Given the description of an element on the screen output the (x, y) to click on. 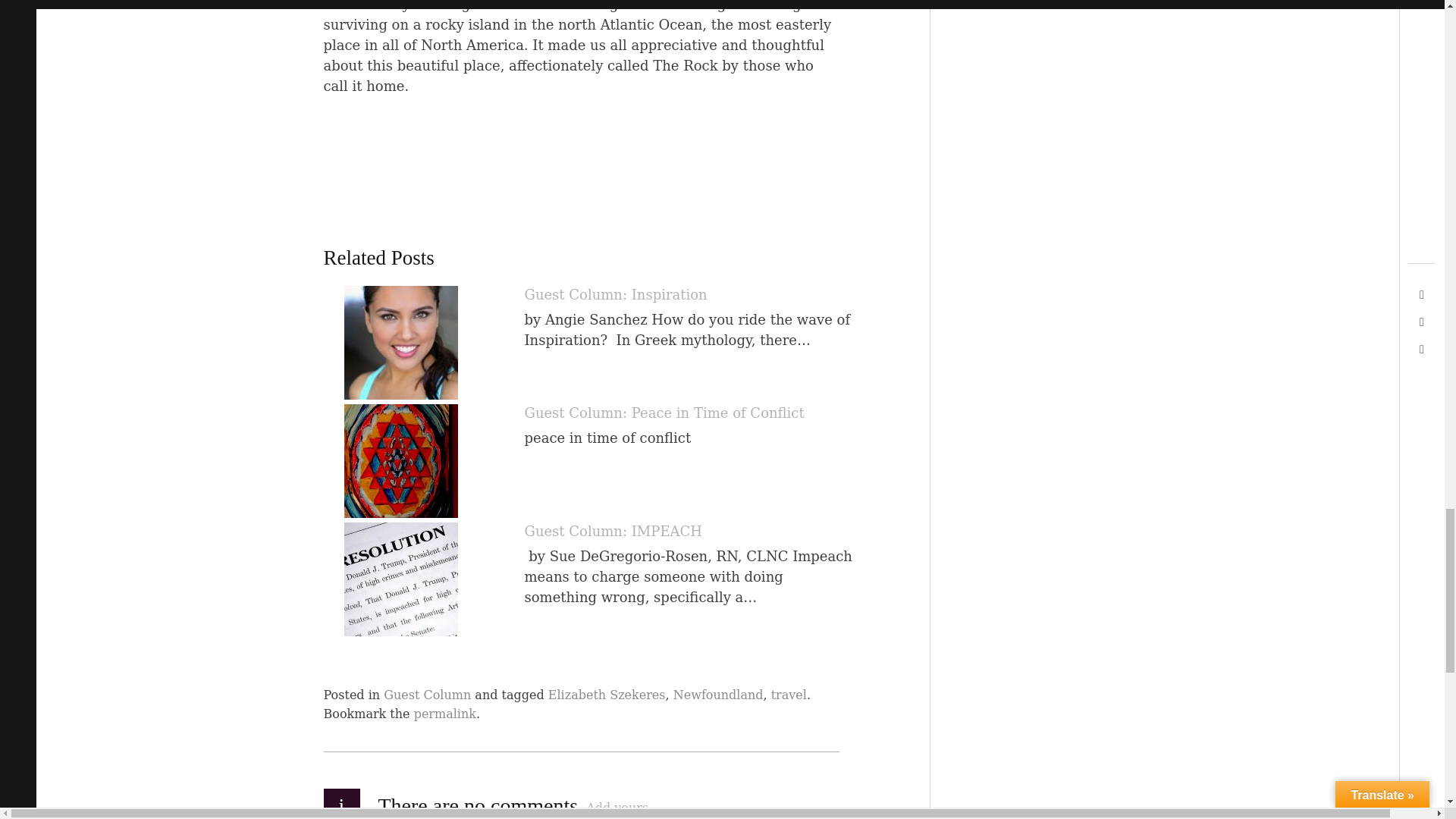
Guest Column: IMPEACH (612, 530)
Elizabeth Szekeres (606, 694)
travel (788, 694)
permalink (444, 713)
Add yours (616, 807)
Guest Column: Peace in Time of Conflict (664, 412)
Guest Column: Inspiration (615, 294)
Guest Column (427, 694)
Newfoundland (717, 694)
